Given the description of an element on the screen output the (x, y) to click on. 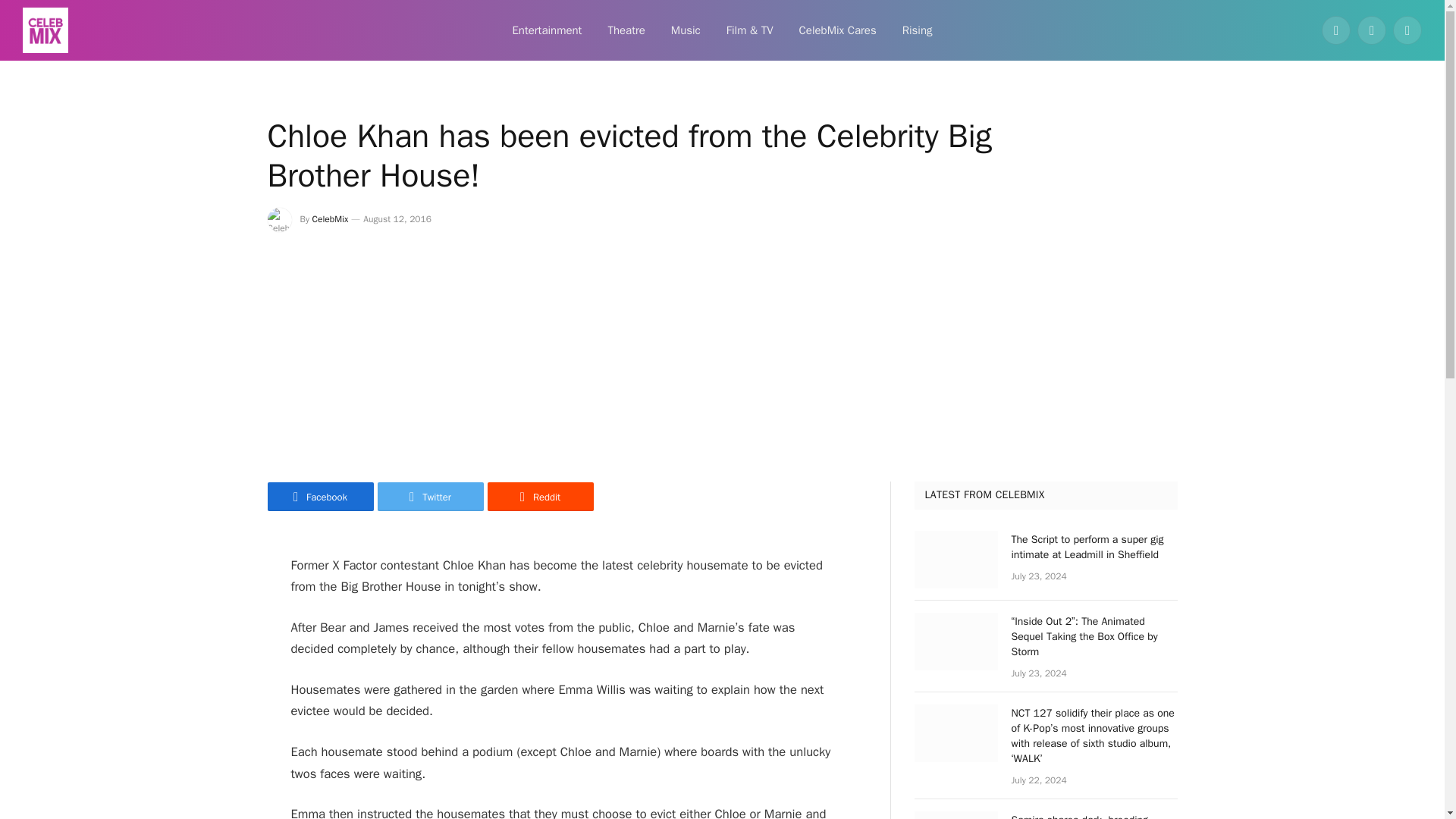
Twitter (430, 496)
Share on Reddit (539, 496)
Theatre (626, 30)
CelebMix Cares (837, 30)
Music (685, 30)
CelebMix (331, 218)
Rising (916, 30)
Reddit (539, 496)
Share on Facebook (319, 496)
Posts by CelebMix (331, 218)
Instagram (1407, 30)
Facebook (319, 496)
Entertainment (546, 30)
Facebook (1336, 30)
